Given the description of an element on the screen output the (x, y) to click on. 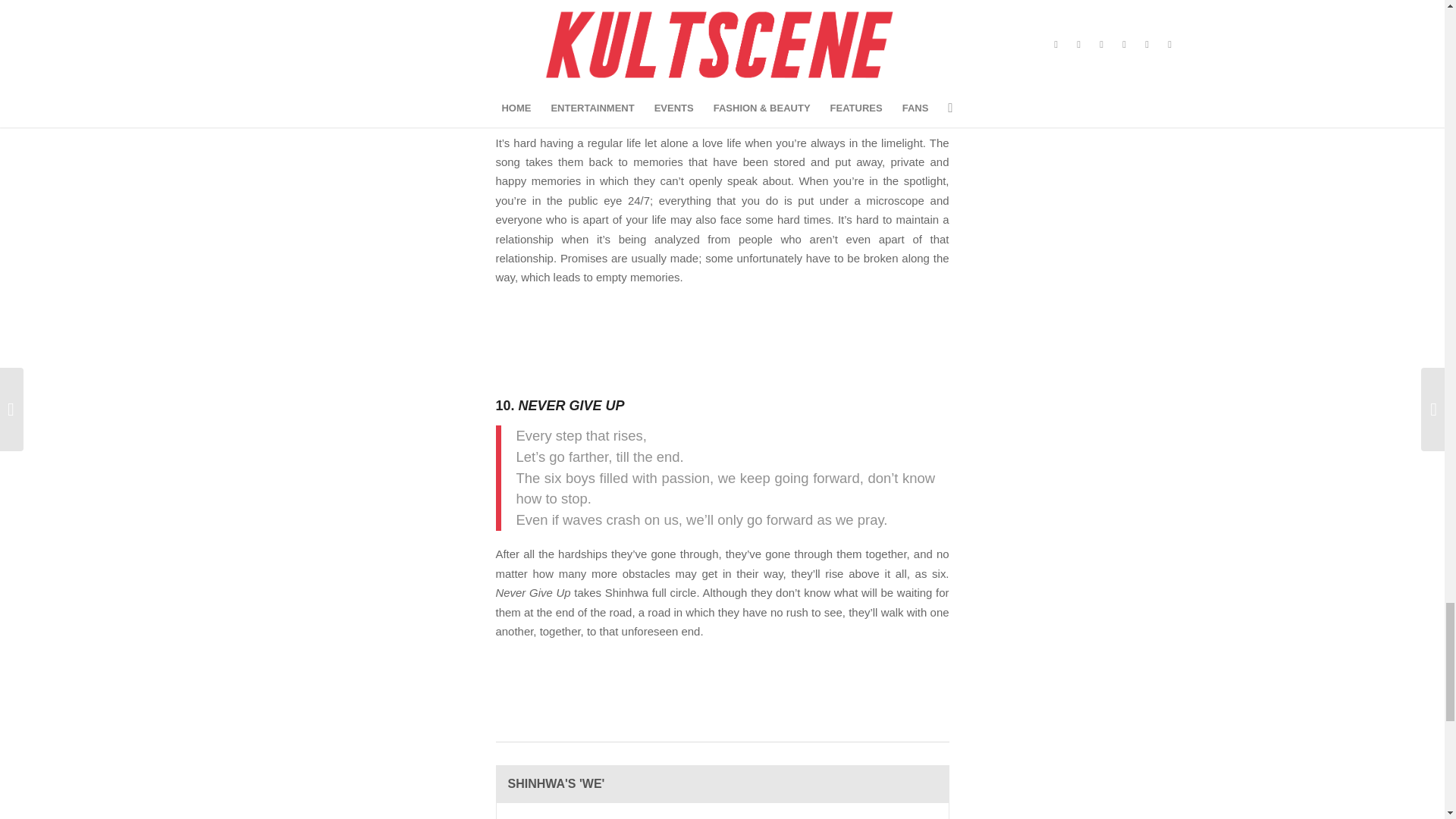
5 K-Pop Songs To Help You Unwind from the Work Week (792, 74)
